Given the description of an element on the screen output the (x, y) to click on. 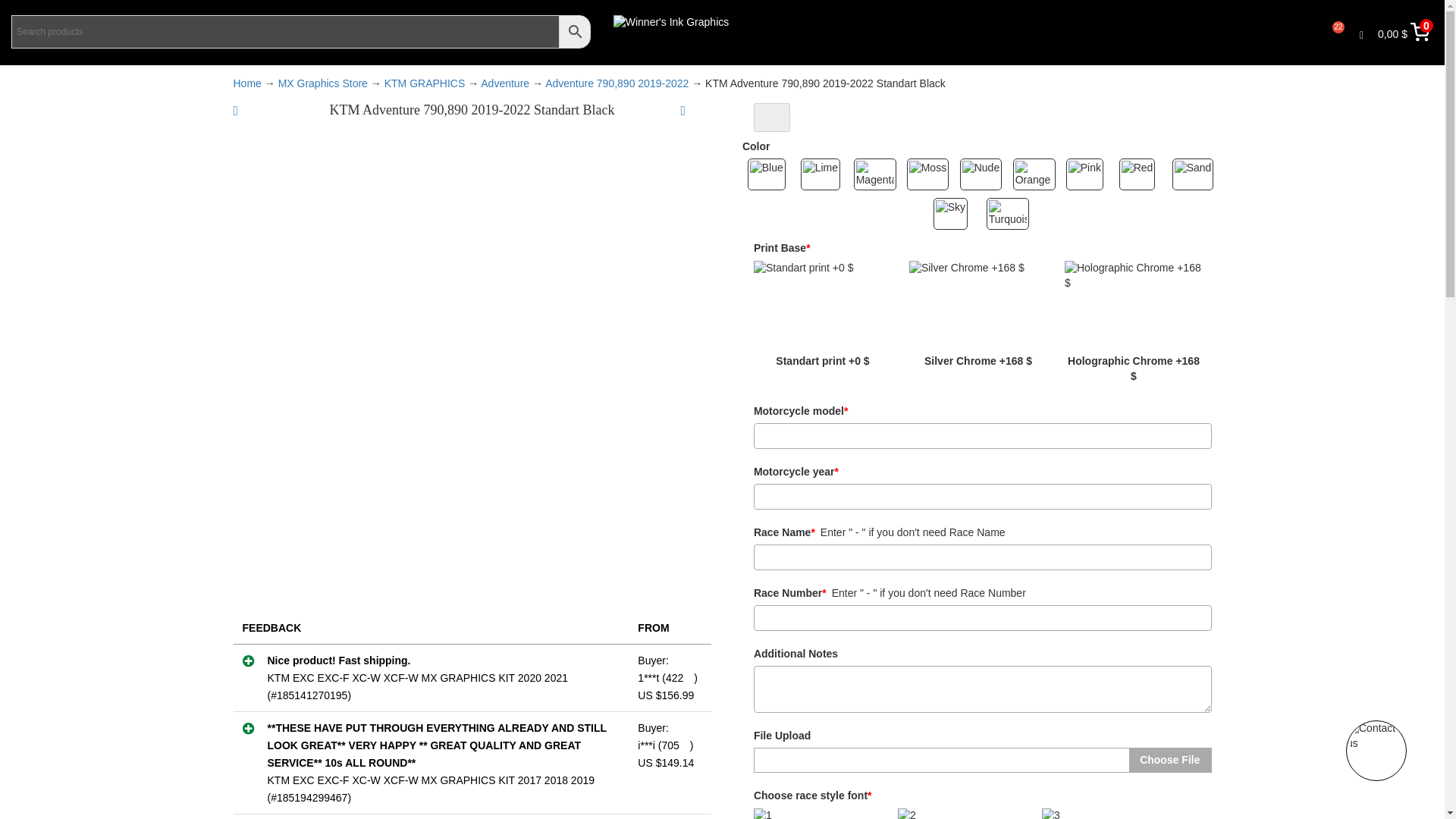
Home (247, 82)
Adventure 790,890 2019-2022 (616, 82)
Lime (822, 174)
Sky (955, 214)
Nude (982, 174)
Home (247, 82)
Orange (1035, 174)
Red (1141, 174)
Adventure (504, 82)
Moss (929, 174)
